Given the description of an element on the screen output the (x, y) to click on. 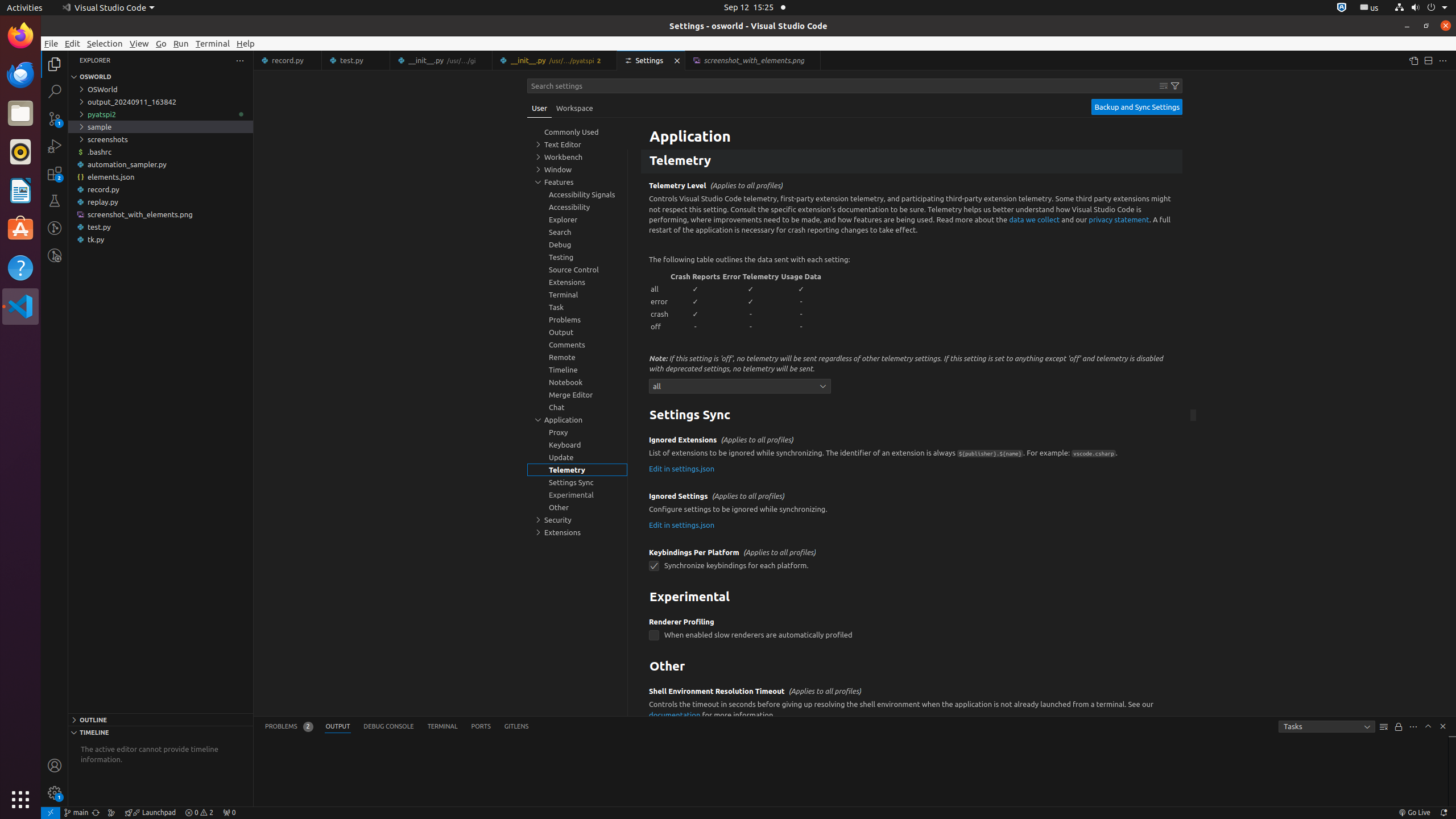
 Ignored Extensions. Setting value retained when switching profiles. List of extensions to be ignored while synchronizing. The identifier of an extension is always ${publisher}.${name}. For example: vscode.csharp.  Element type: tree-item (911, 455)
test.py Element type: tree-item (160, 226)
Terminal (Ctrl+`) Element type: page-tab (442, 726)
GitLens Element type: page-tab (516, 726)
No Ports Forwarded Element type: push-button (228, 812)
